Given the description of an element on the screen output the (x, y) to click on. 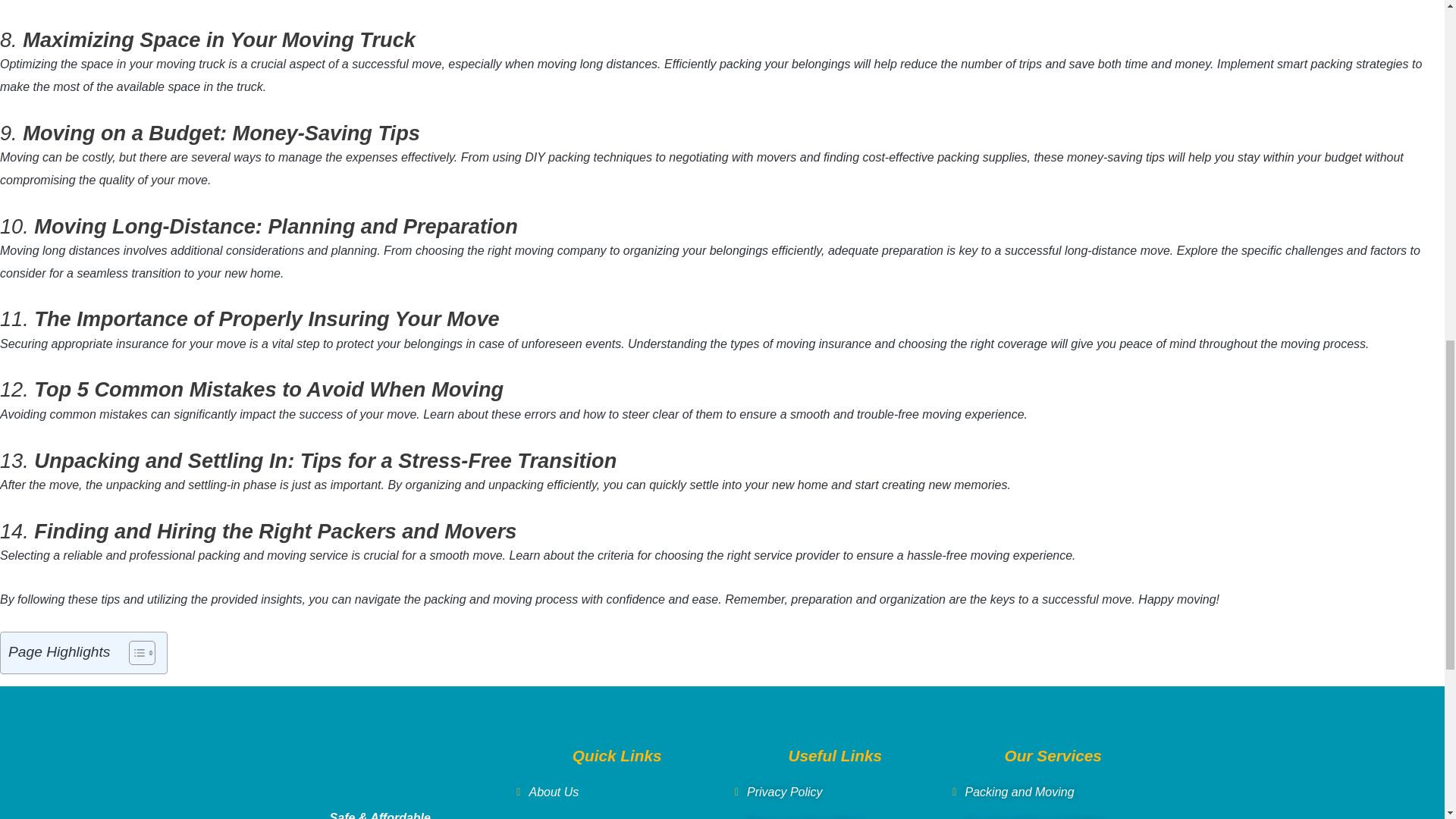
About Us (617, 792)
Our Services (617, 816)
